Given the description of an element on the screen output the (x, y) to click on. 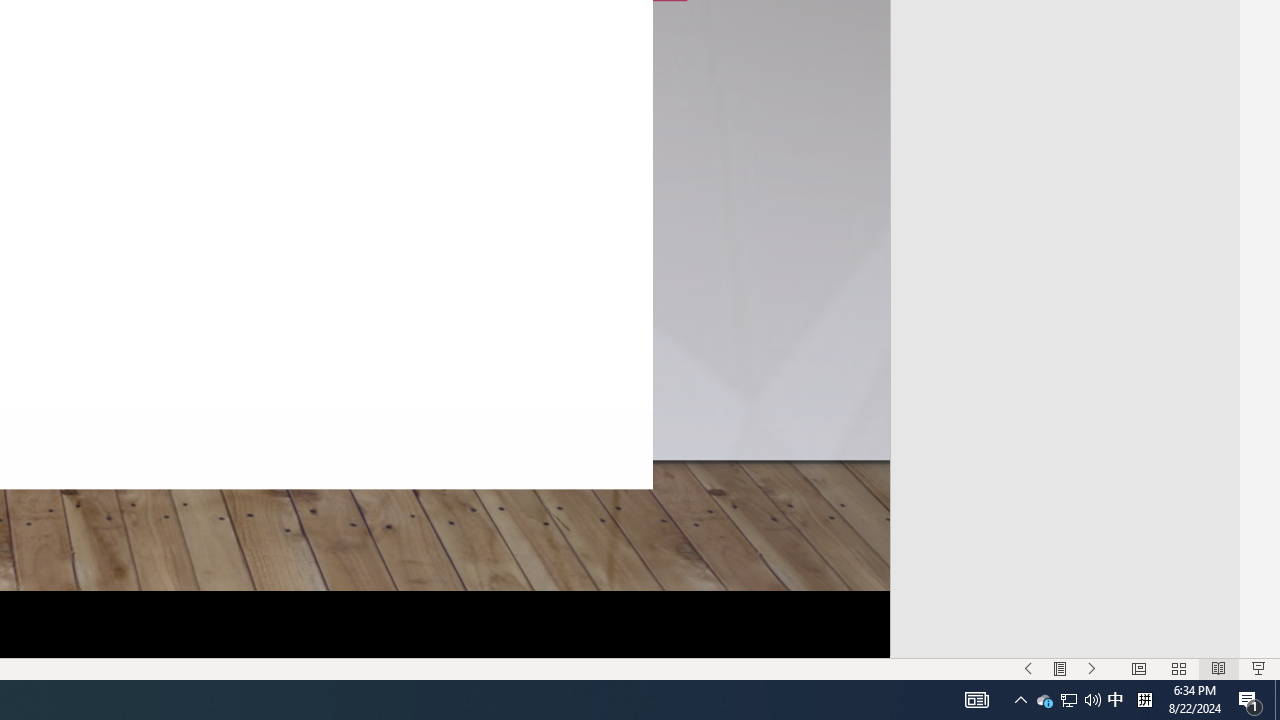
Slide Show Next On (1092, 668)
Slide Show Previous On (1028, 668)
Menu On (1060, 668)
